Given the description of an element on the screen output the (x, y) to click on. 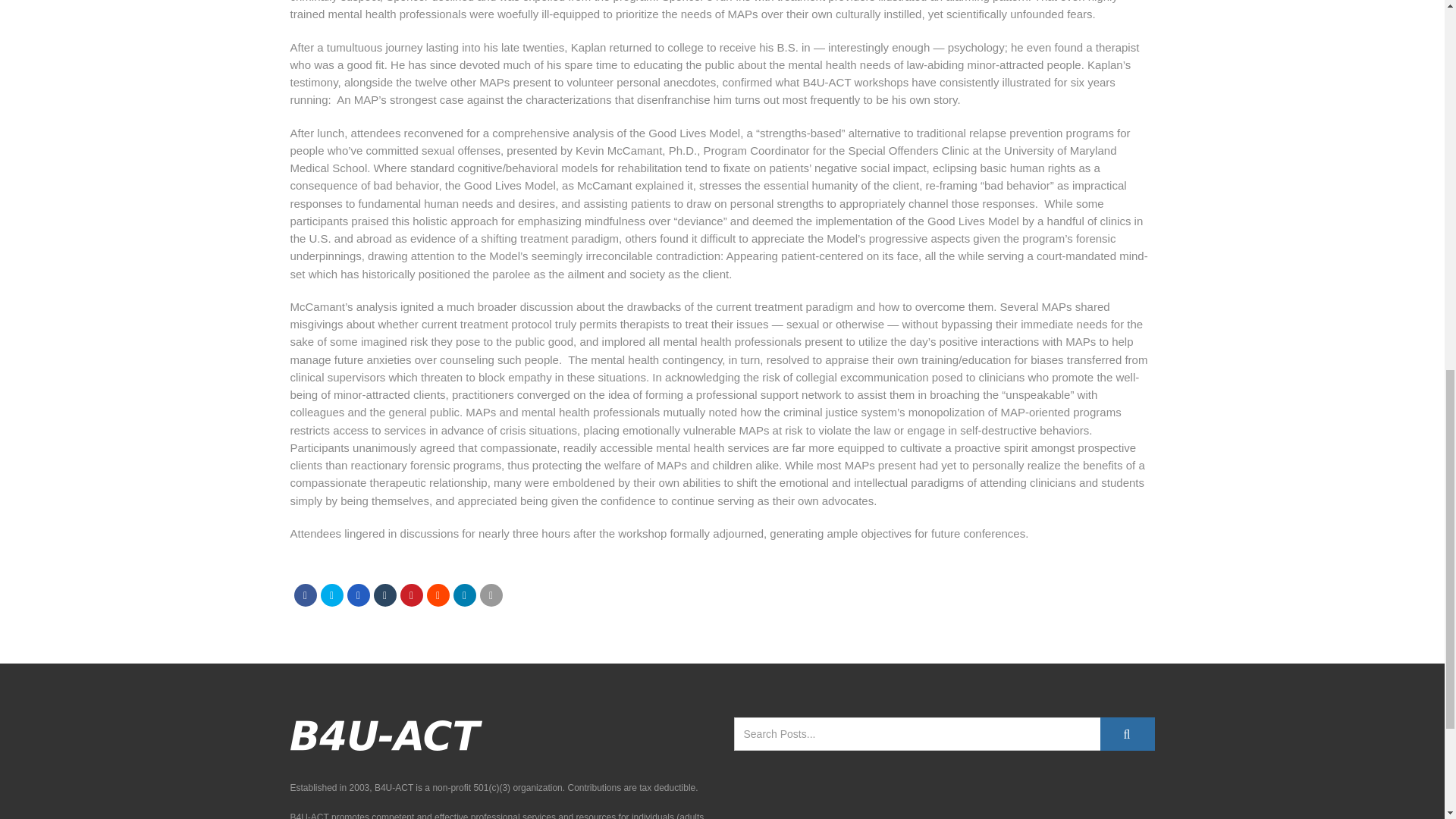
Email (490, 594)
Post to Tumblr (384, 594)
Tweet (331, 594)
Share on Linkedin (437, 594)
Share on Facebook (305, 594)
Share on Linkedin (464, 594)
Pin it (411, 594)
